Given the description of an element on the screen output the (x, y) to click on. 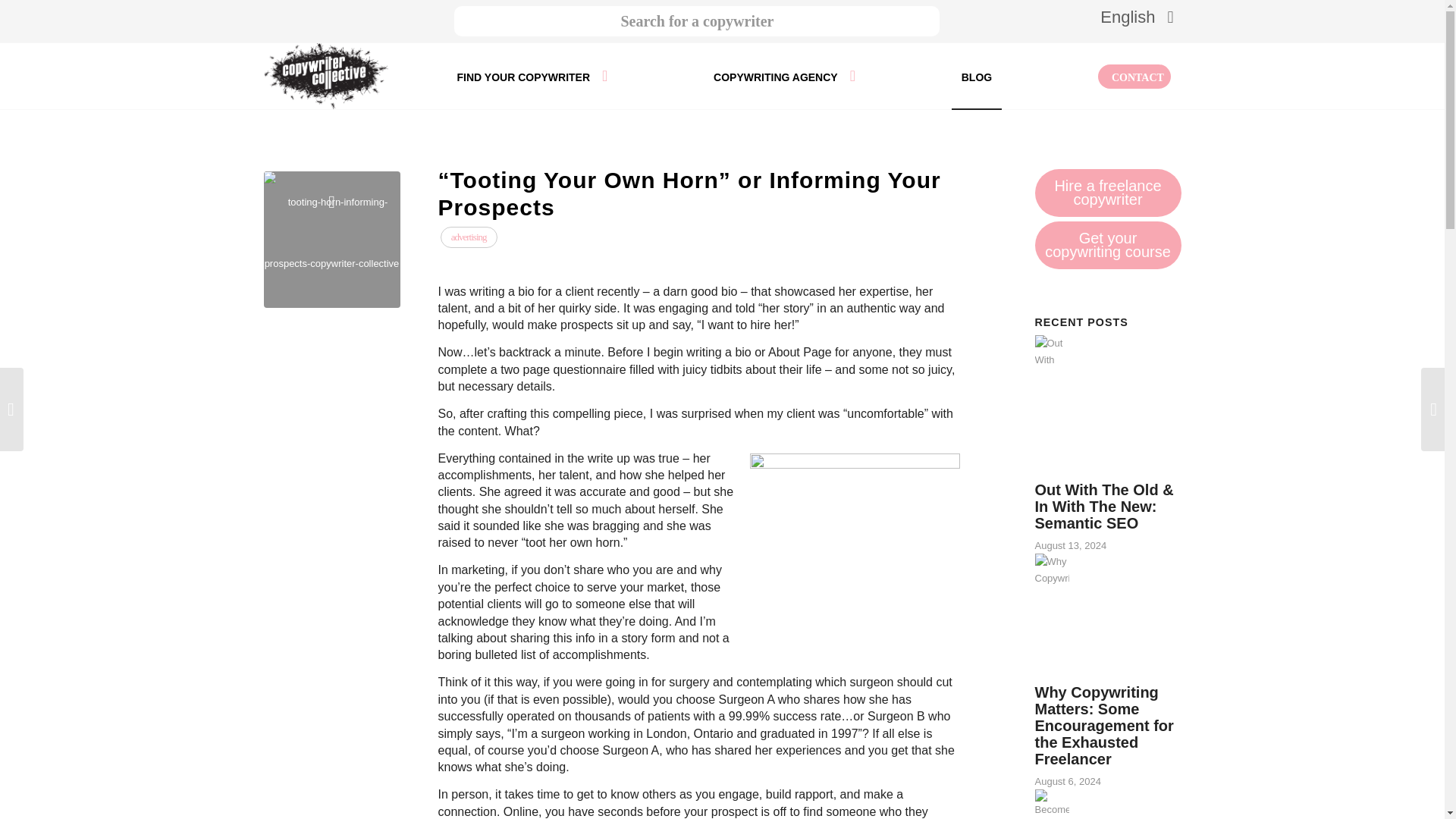
Recent Posts (1079, 322)
advertising (469, 237)
RECENT POSTS (1079, 322)
CONTACT (1133, 75)
tooting-horn-informing-prospects-copywriter-collective (331, 239)
Get your copywriting course (1106, 245)
COPYWRITING AGENCY (783, 75)
FIND YOUR COPYWRITER (531, 75)
Hire a freelance copywriter (1106, 192)
